Given the description of an element on the screen output the (x, y) to click on. 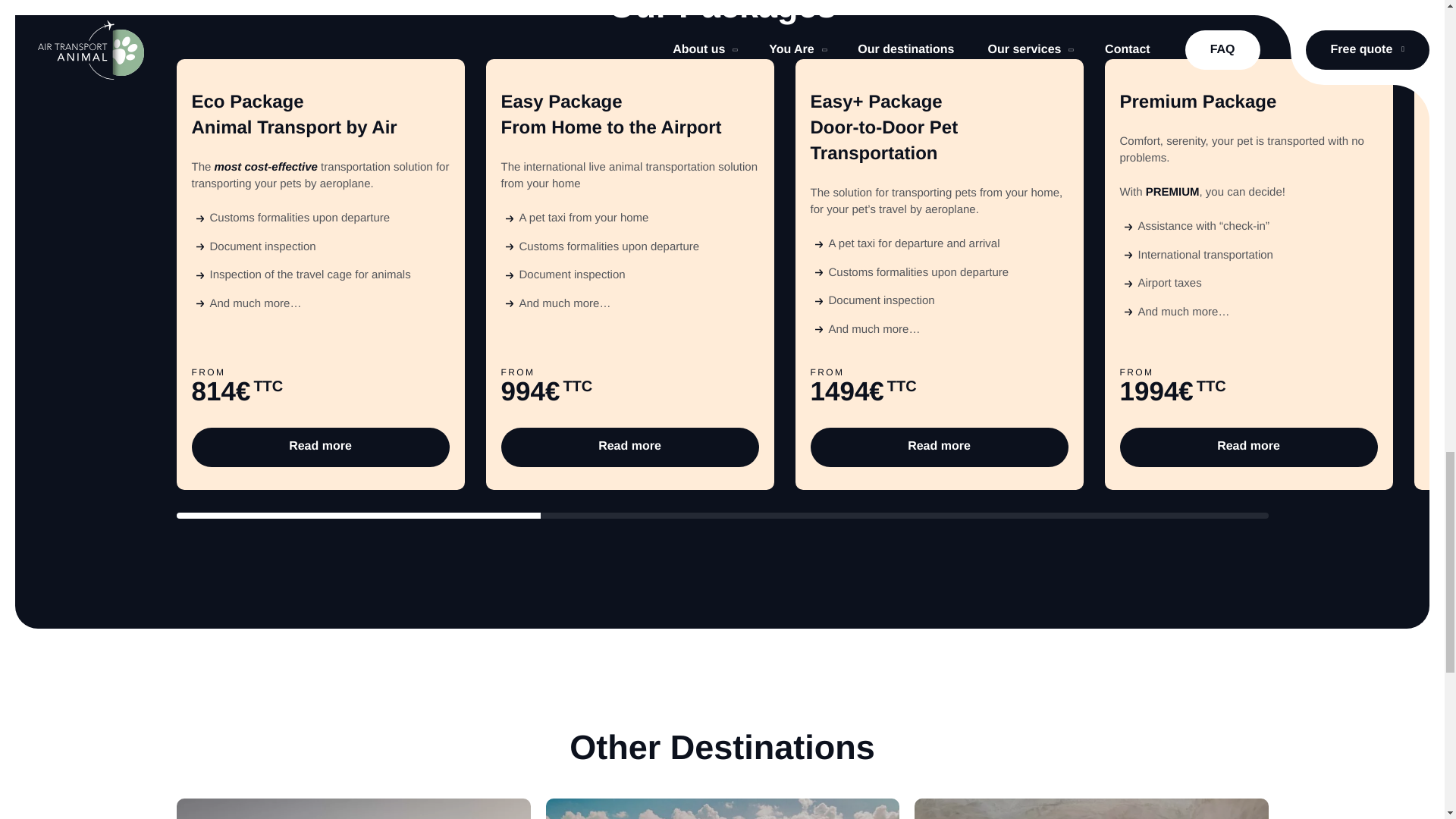
Australia (353, 808)
Read more (938, 446)
Malta (722, 808)
Read more (1248, 446)
Read more (319, 446)
New Caledonia (1091, 808)
Read more (629, 446)
